Given the description of an element on the screen output the (x, y) to click on. 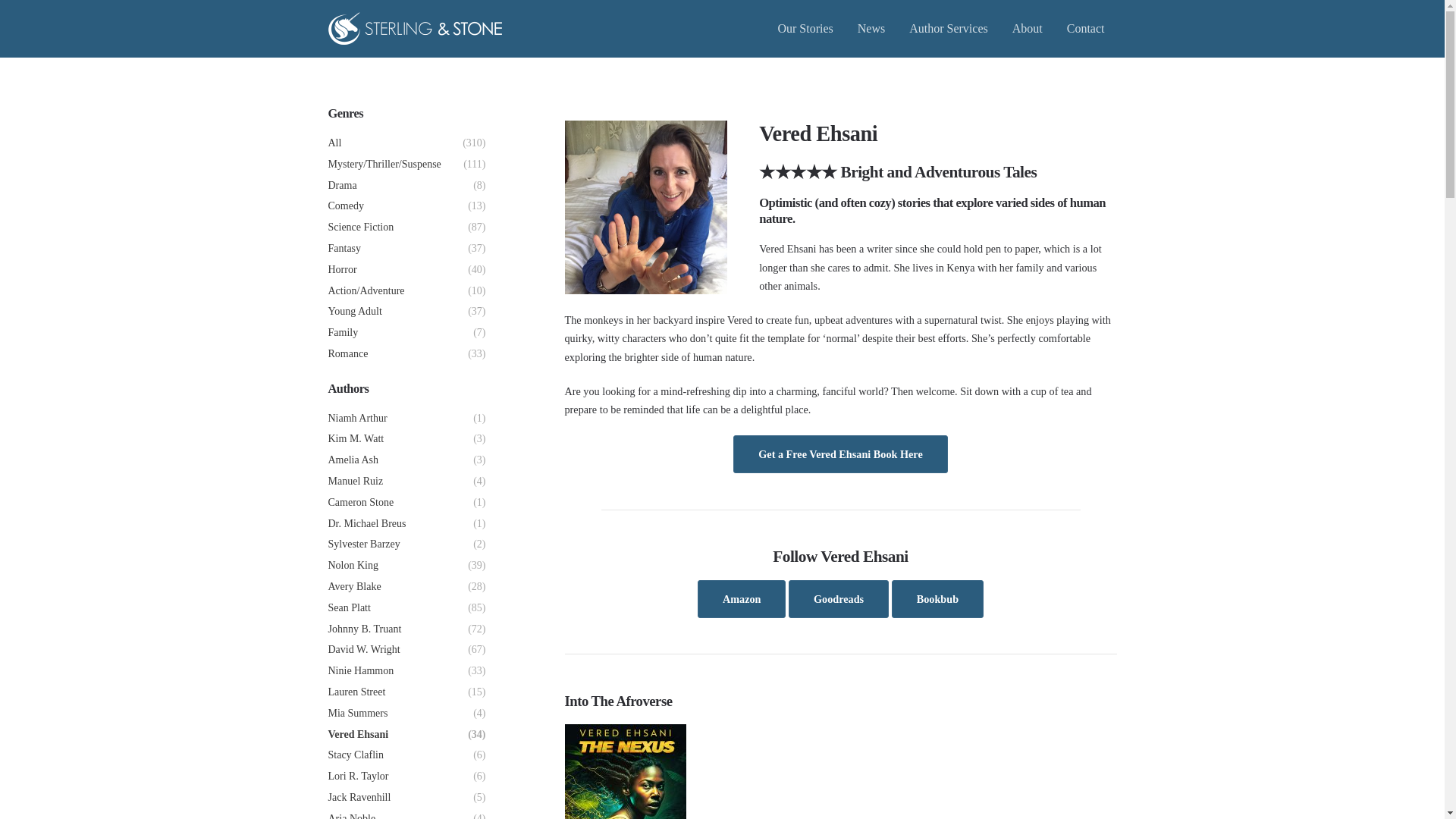
Bookbub (937, 598)
News (870, 28)
Amazon (741, 598)
Author Services (948, 28)
Our Stories (804, 28)
Goodreads (838, 598)
About (1027, 28)
Get a Free Vered Ehsani Book Here (840, 453)
Contact (1085, 28)
